Given the description of an element on the screen output the (x, y) to click on. 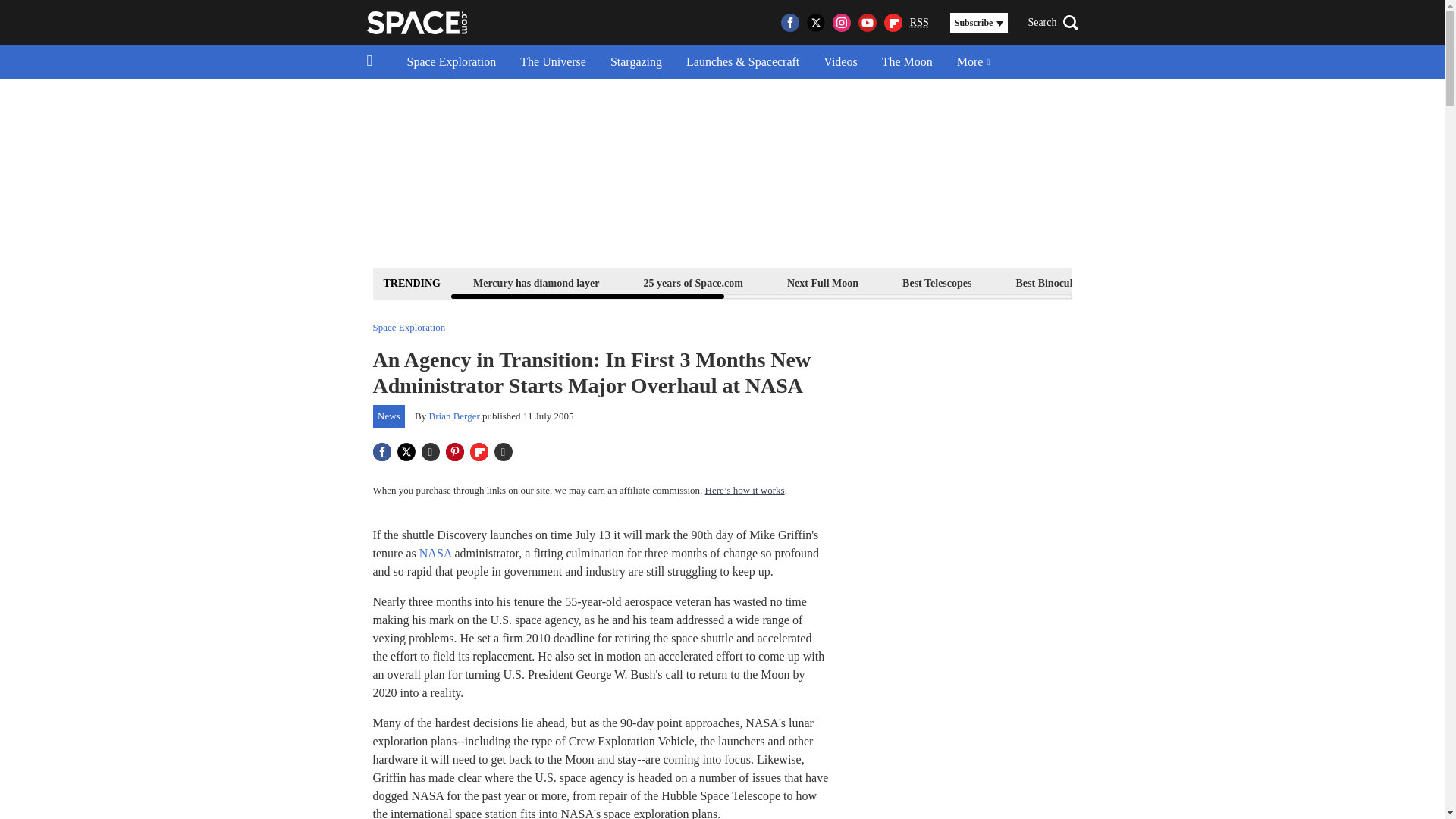
Really Simple Syndication (919, 21)
Space Calendar (1301, 282)
25 years of Space.com (693, 282)
The Universe (553, 61)
Best Star Projectors (1176, 282)
The Moon (906, 61)
Space Exploration (451, 61)
Mercury has diamond layer (536, 282)
RSS (919, 22)
Best Telescopes (936, 282)
Videos (839, 61)
Stargazing (636, 61)
Next Full Moon (822, 282)
Best Binoculars (1051, 282)
